Given the description of an element on the screen output the (x, y) to click on. 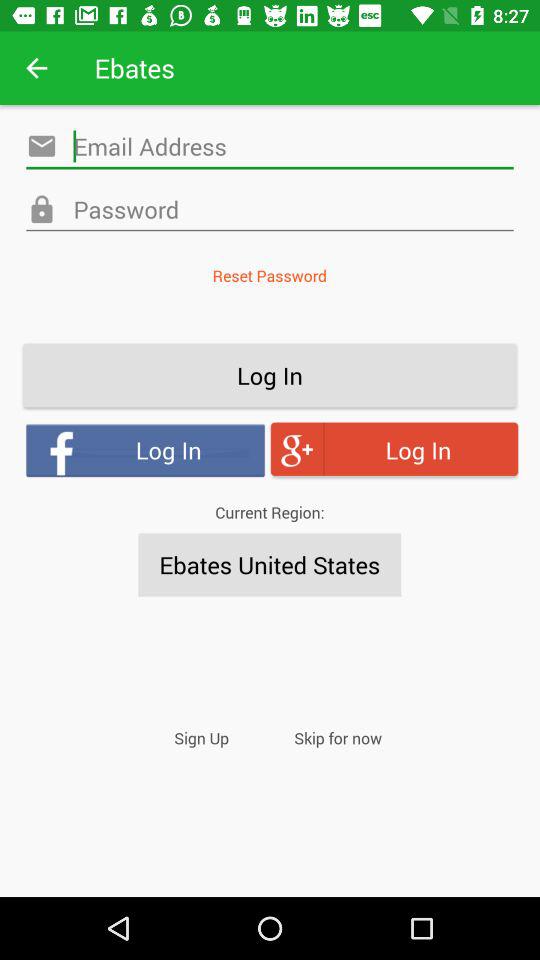
add password (270, 209)
